Given the description of an element on the screen output the (x, y) to click on. 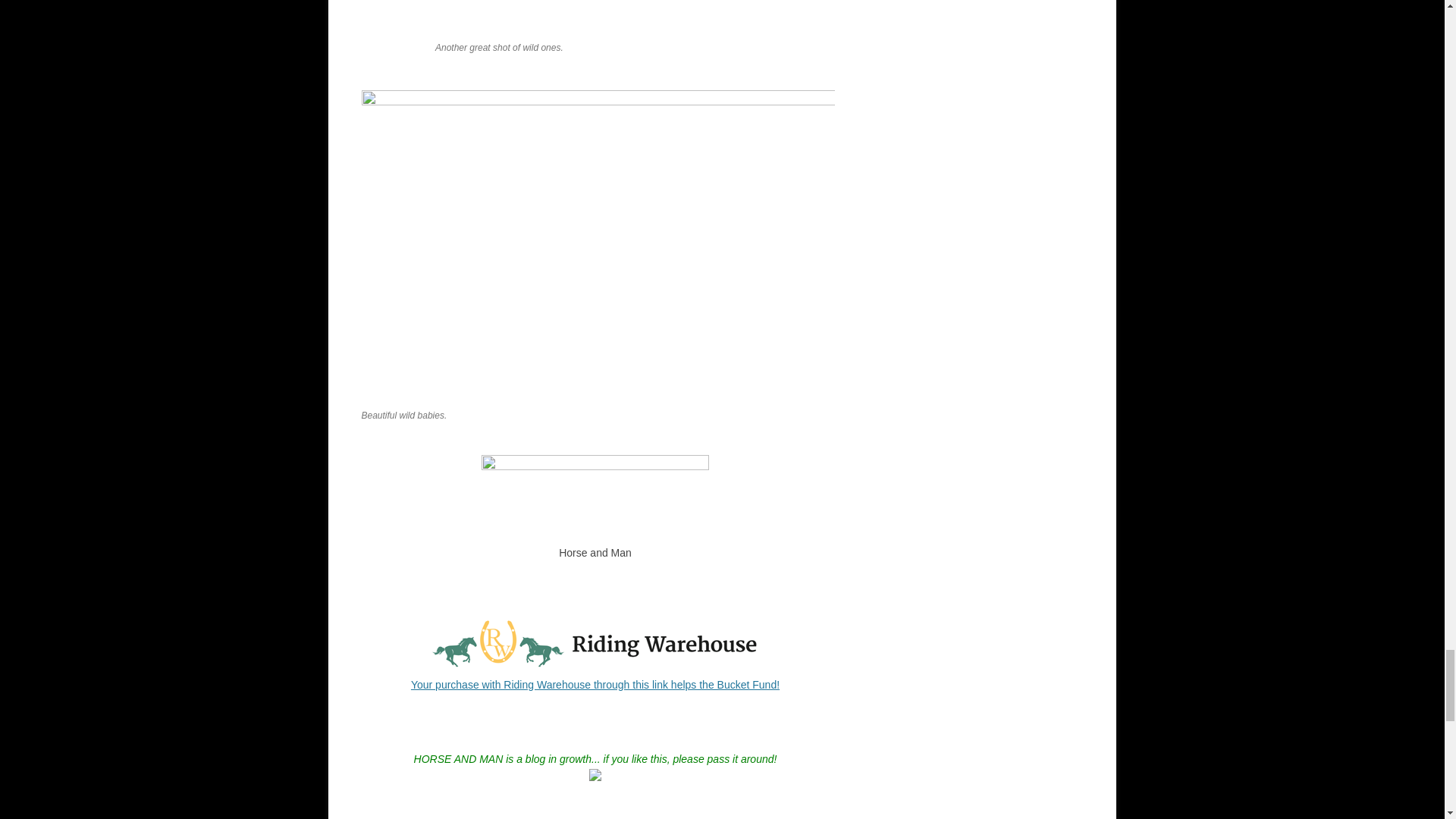
Help The Bucket Fund with your purchase! (594, 666)
Help The Bucket Fund with your purchase! (594, 684)
